Given the description of an element on the screen output the (x, y) to click on. 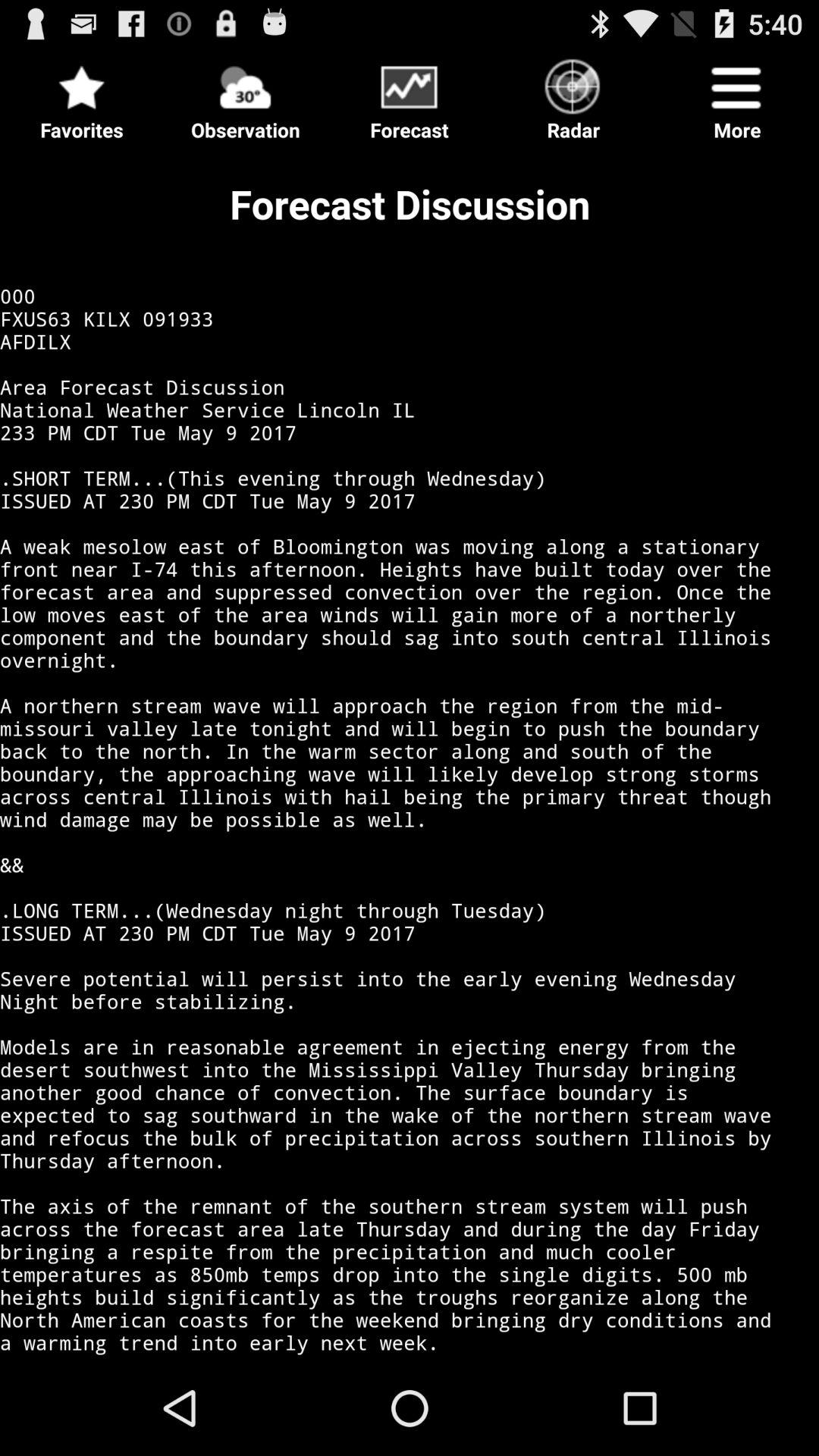
tap observation icon (245, 95)
